Given the description of an element on the screen output the (x, y) to click on. 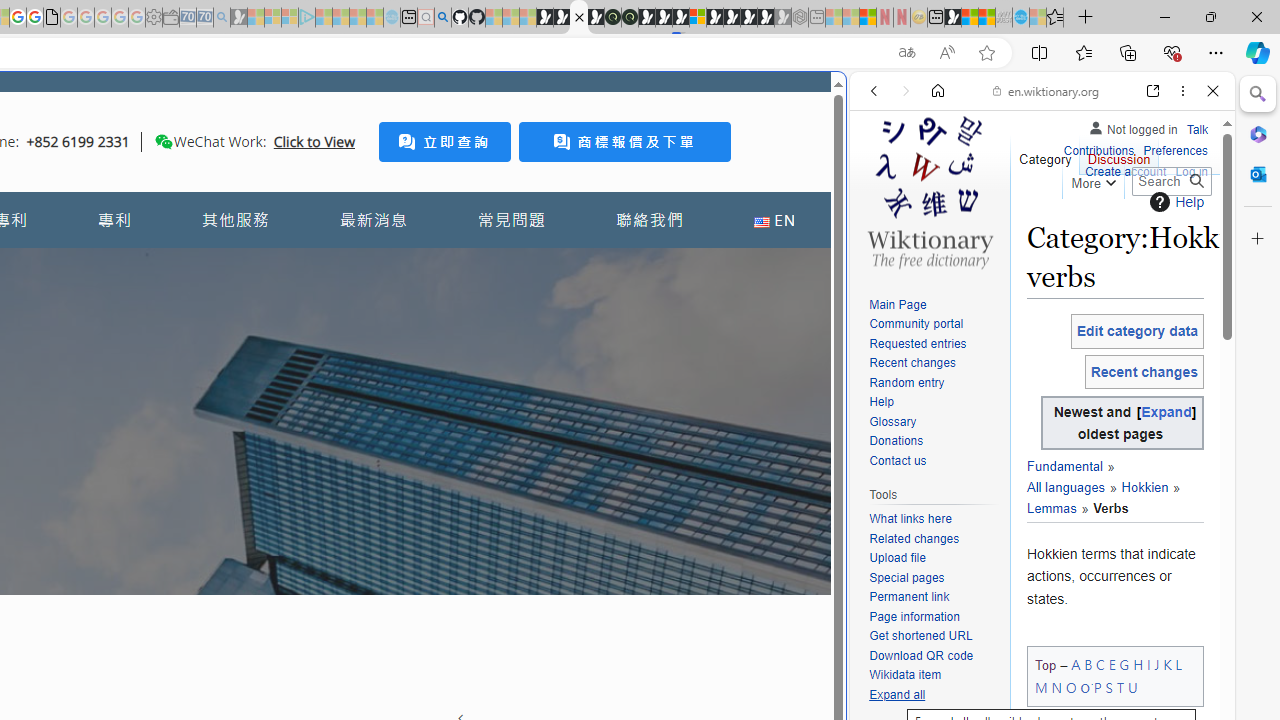
Permanent link (934, 597)
Get shortened URL (934, 637)
[Expand] (1166, 412)
Lemmas (1051, 507)
Main Page (934, 305)
Create account (1125, 172)
Wikidata item (905, 675)
Hokkien (1136, 488)
